Given the description of an element on the screen output the (x, y) to click on. 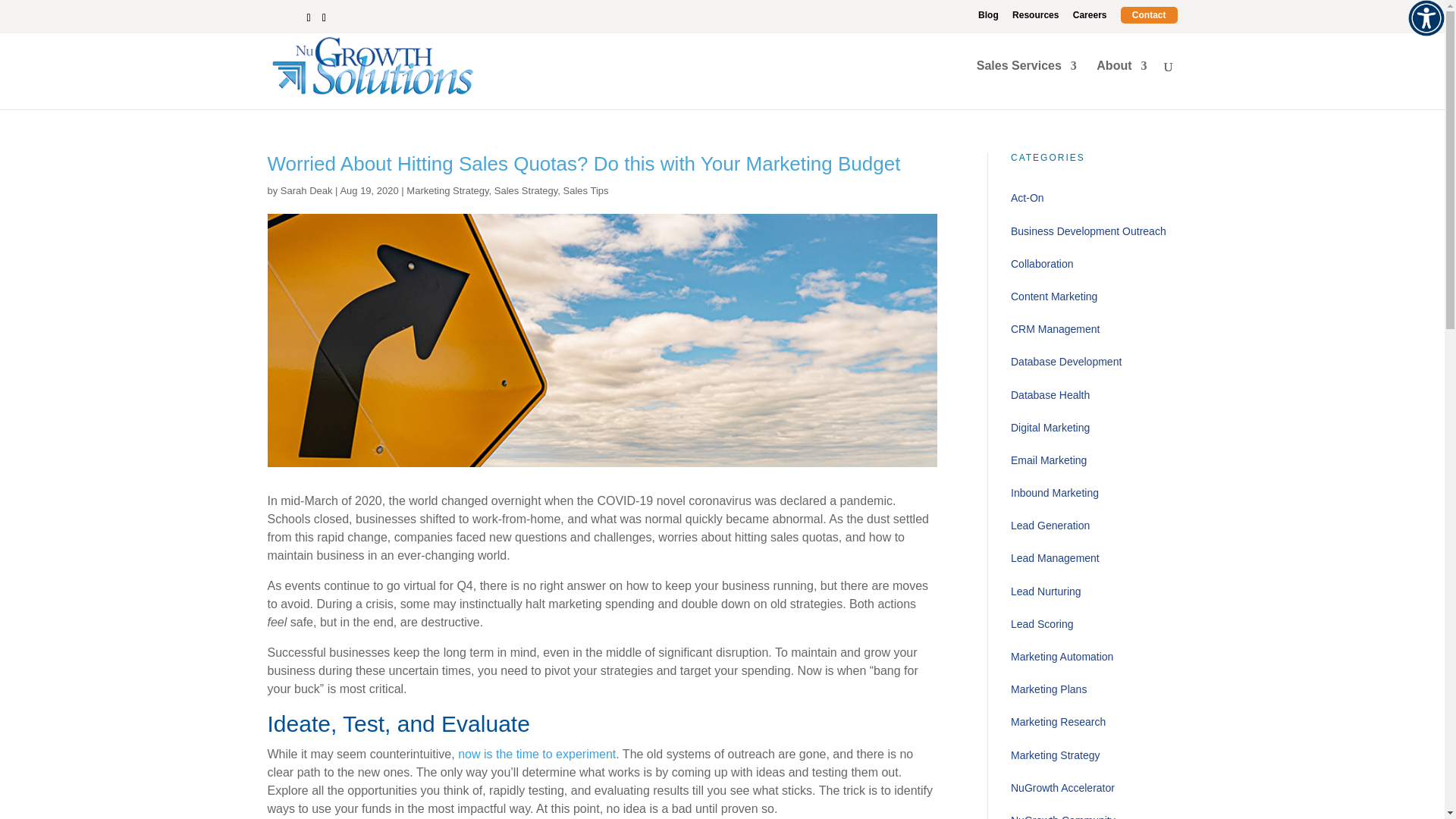
Marketing Automation (1093, 656)
CRM Management (1093, 328)
Careers (1089, 18)
Content Marketing (1093, 296)
Act-On (1093, 197)
Blog (988, 18)
Email Marketing (1093, 460)
Marketing Research (1093, 721)
Lead Management (1093, 558)
Collaboration (1093, 264)
